Given the description of an element on the screen output the (x, y) to click on. 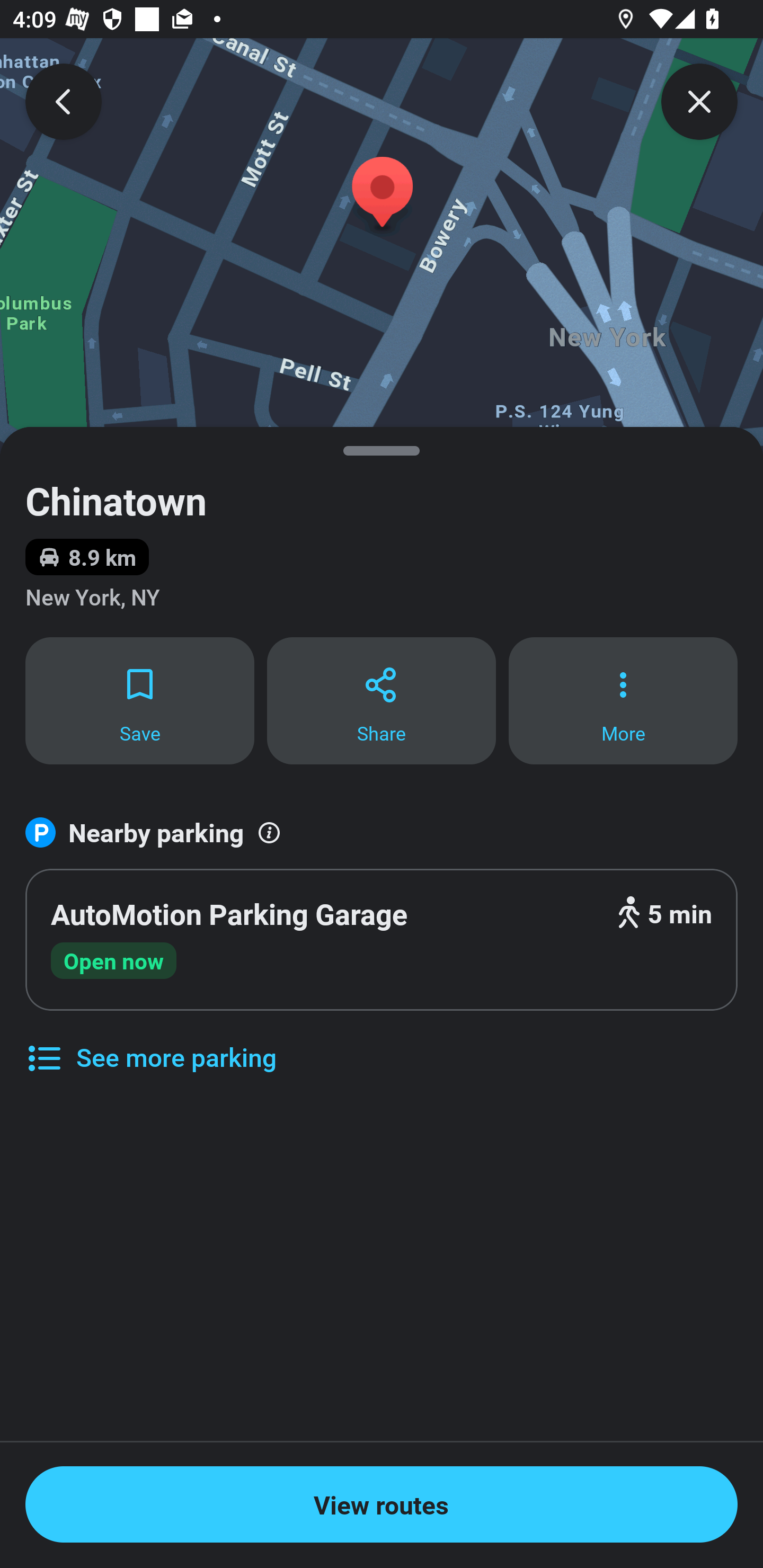
Chinatown 8.9 km New York, NY (381, 531)
Save (139, 700)
Share (381, 700)
More (622, 700)
AutoMotion Parking Garage 5 min Open now (381, 939)
See more parking (150, 1043)
View routes (381, 1504)
